Given the description of an element on the screen output the (x, y) to click on. 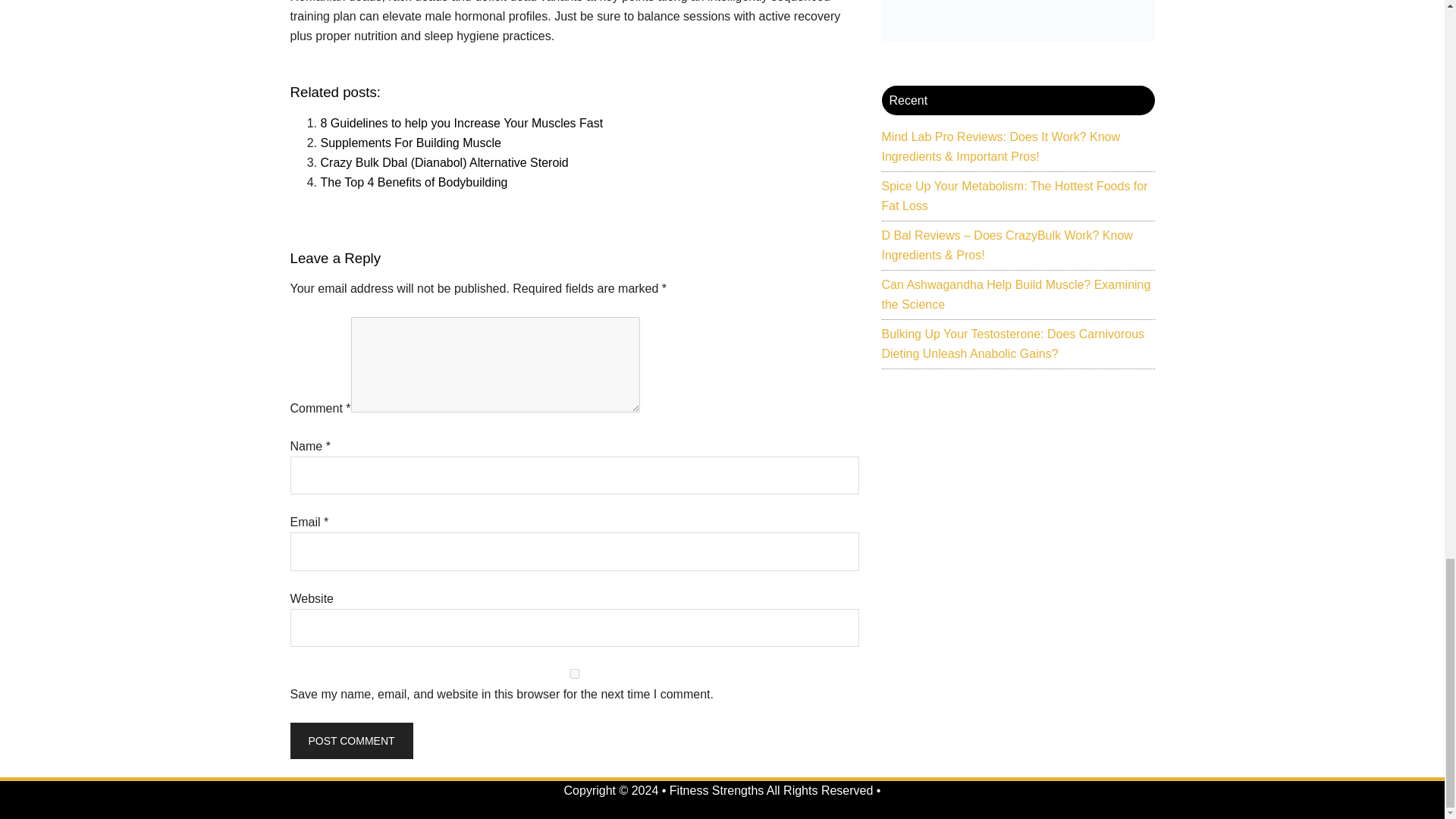
The Top 4 Benefits of Bodybuilding (413, 182)
Supplements For Building Muscle (410, 142)
Supplements For Building Muscle (410, 142)
yes (574, 673)
Post Comment (350, 740)
Post Comment (350, 740)
8 Guidelines to help you Increase Your Muscles Fast (461, 123)
The Top 4 Benefits of Bodybuilding (413, 182)
8 Guidelines to help you Increase Your Muscles Fast (461, 123)
